Given the description of an element on the screen output the (x, y) to click on. 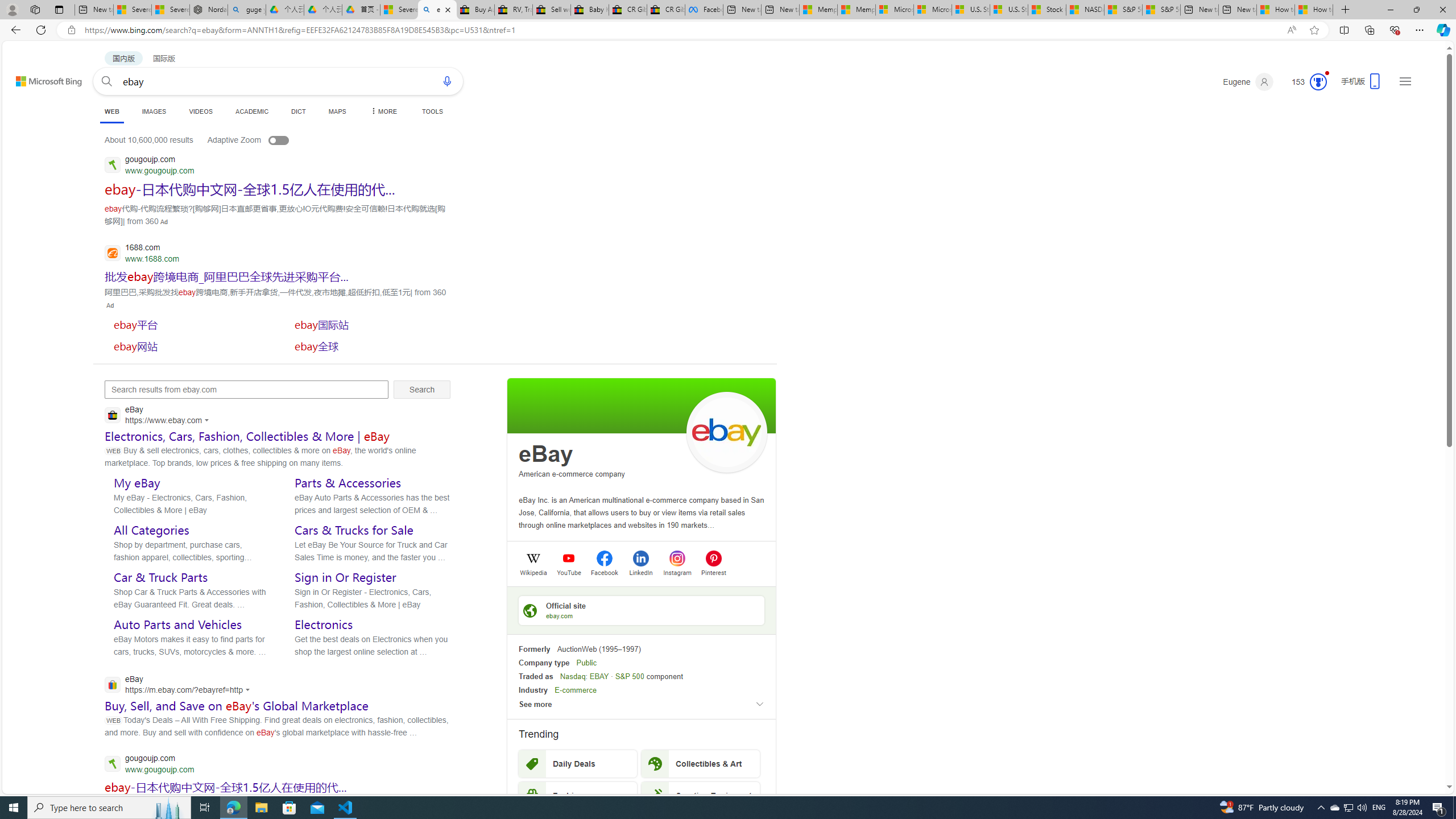
Facebook (603, 571)
Adaptive Zoom (259, 139)
Buy Auto Parts & Accessories | eBay (475, 9)
Formerly (534, 649)
All Categories (151, 529)
AutomationID: mfa_root (1406, 752)
Nasdaq (572, 676)
